Given the description of an element on the screen output the (x, y) to click on. 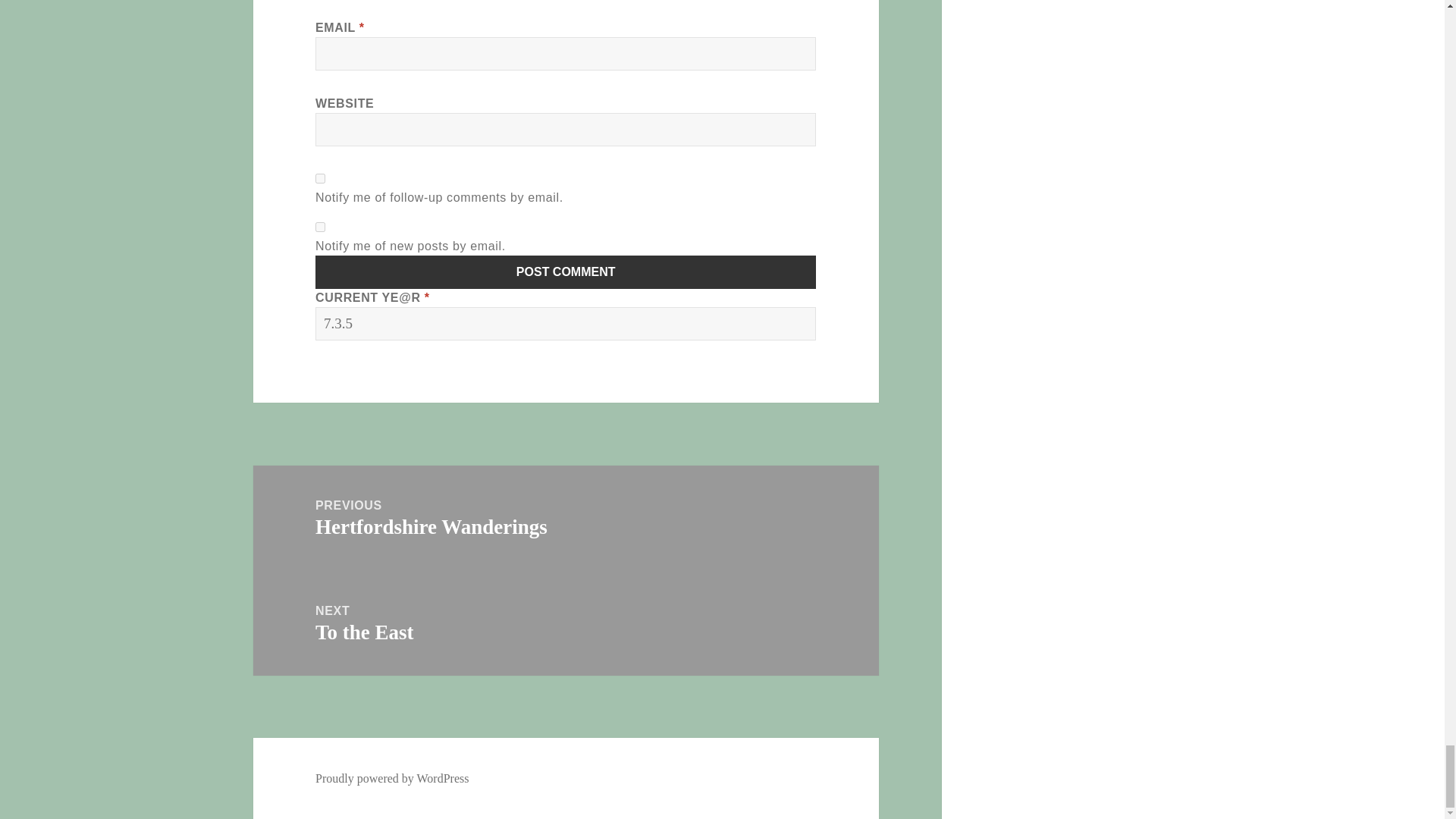
subscribe (319, 178)
7.3.5 (565, 323)
Post Comment (565, 272)
subscribe (319, 226)
